Given the description of an element on the screen output the (x, y) to click on. 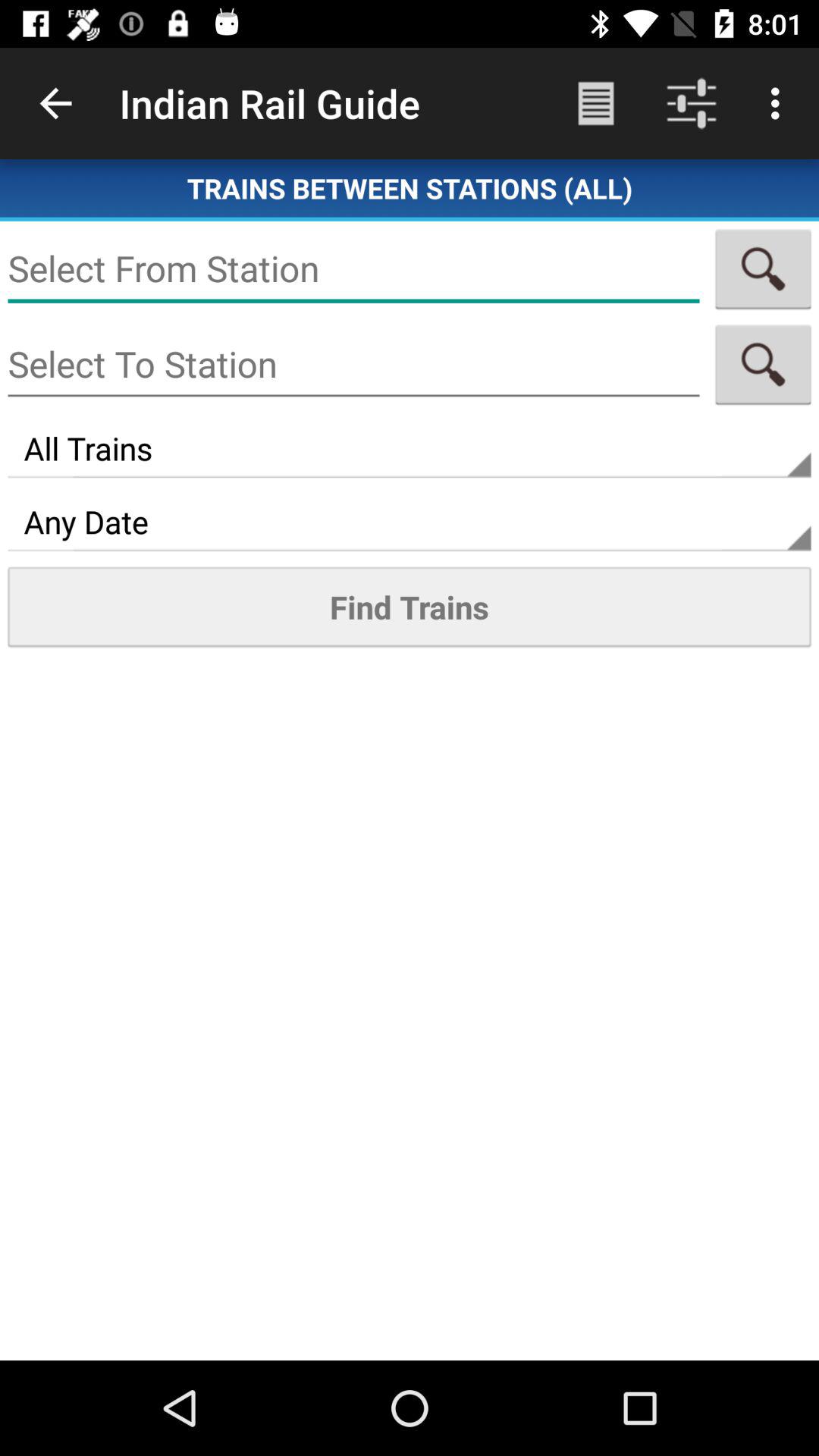
search app (763, 364)
